Given the description of an element on the screen output the (x, y) to click on. 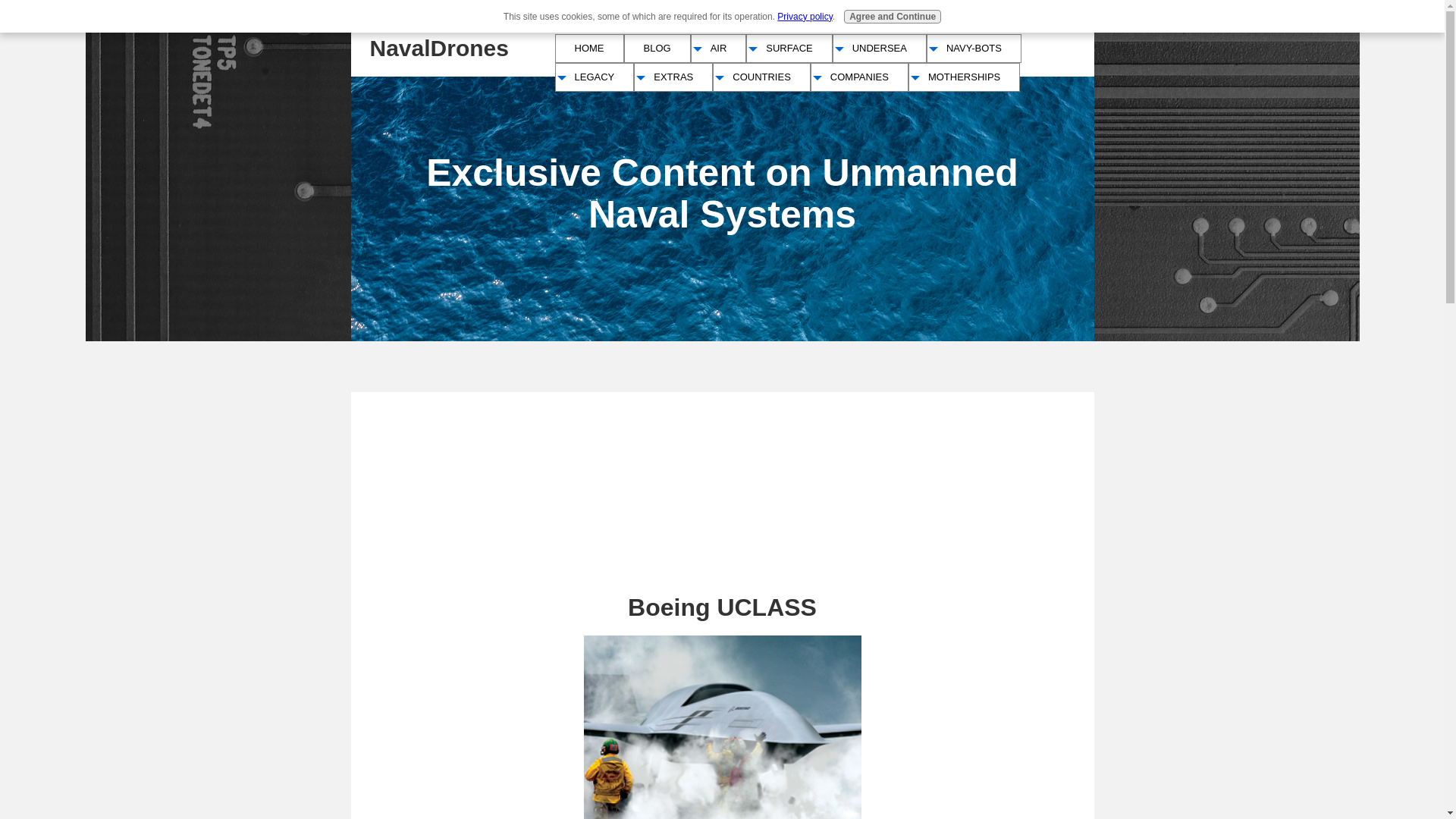
HOME (588, 48)
Advertisement (464, 468)
BLOG (657, 48)
NavalDrones (438, 48)
